Given the description of an element on the screen output the (x, y) to click on. 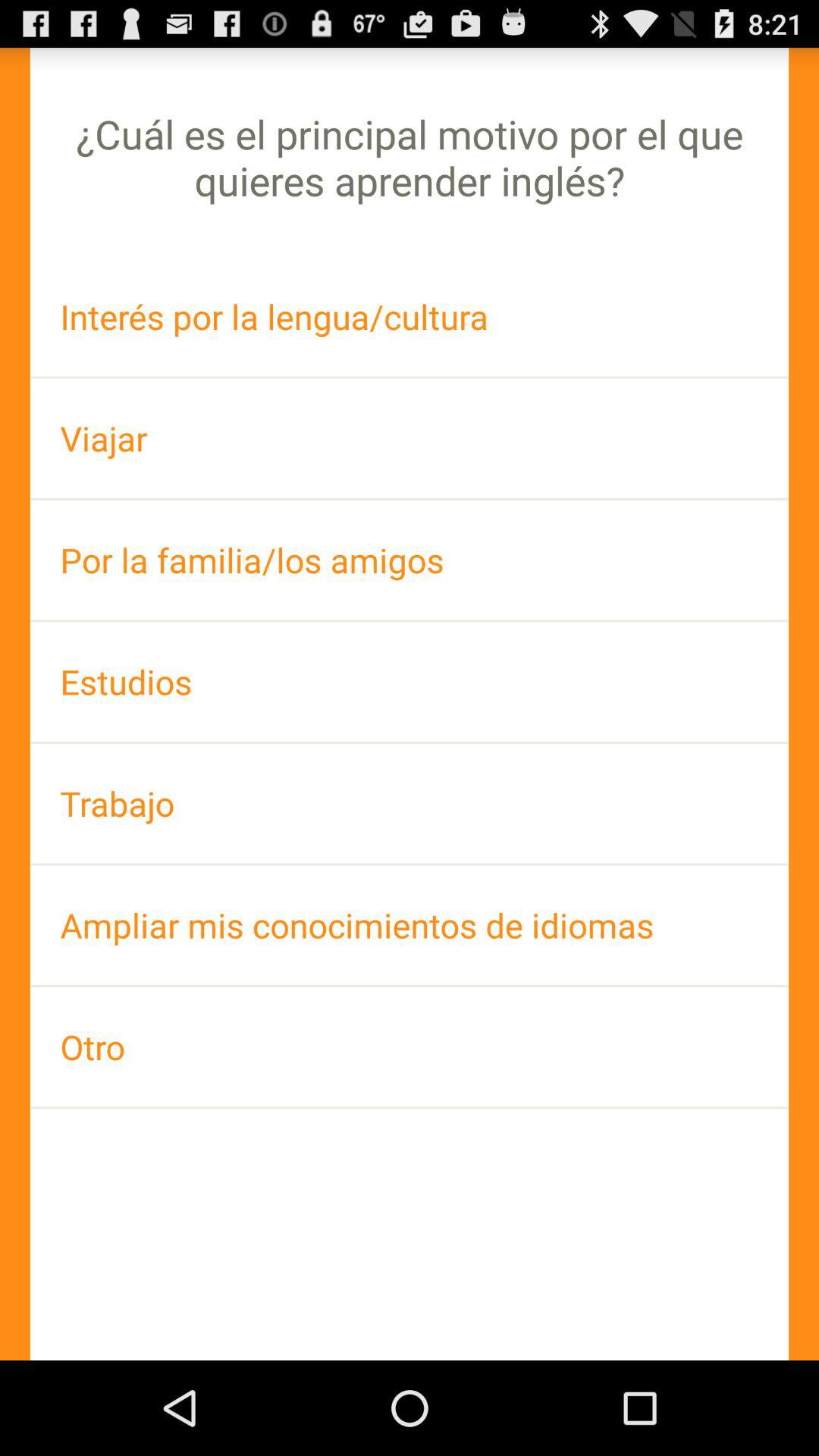
click estudios item (409, 681)
